Given the description of an element on the screen output the (x, y) to click on. 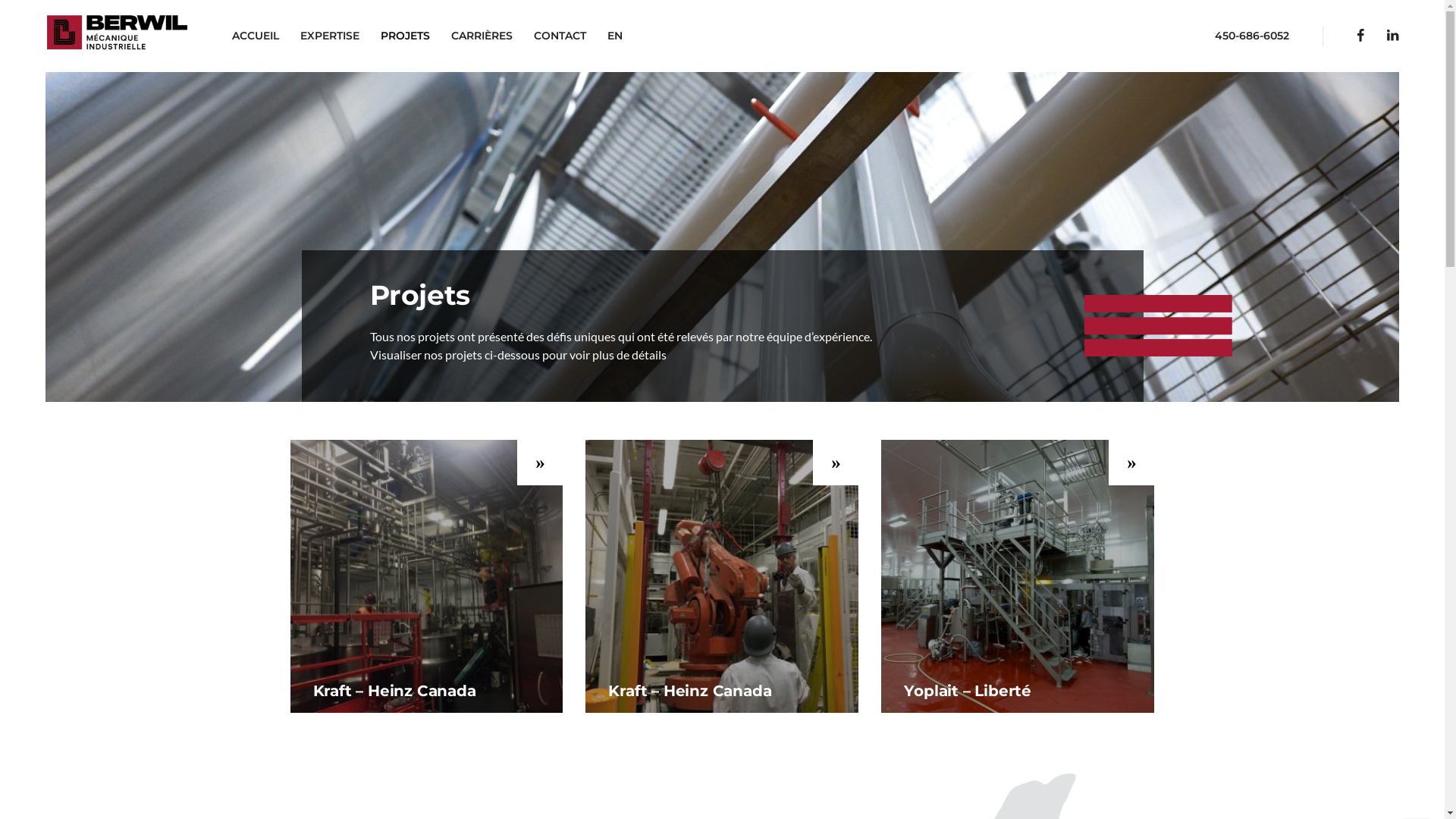
ACCUEIL Element type: text (255, 36)
EN Element type: text (614, 36)
PROJETS Element type: text (405, 36)
450-686-6052 Element type: text (1251, 35)
Linkedin Element type: hover (1392, 35)
EXPERTISE Element type: text (329, 36)
CONTACT Element type: text (559, 36)
Facebook Element type: hover (1360, 35)
